Given the description of an element on the screen output the (x, y) to click on. 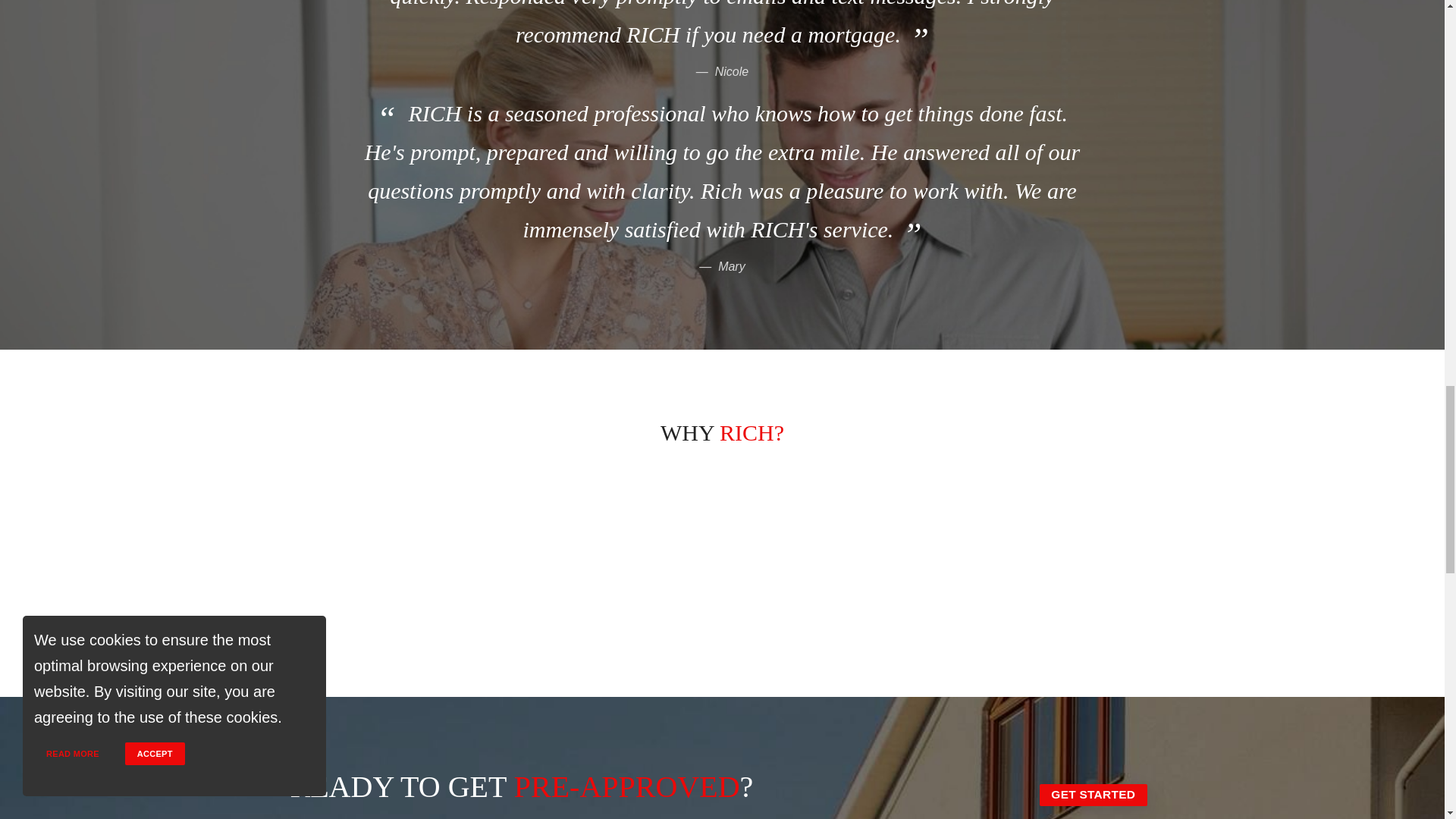
GET STARTED (1093, 794)
Source Title (731, 266)
Source Title (731, 71)
